Given the description of an element on the screen output the (x, y) to click on. 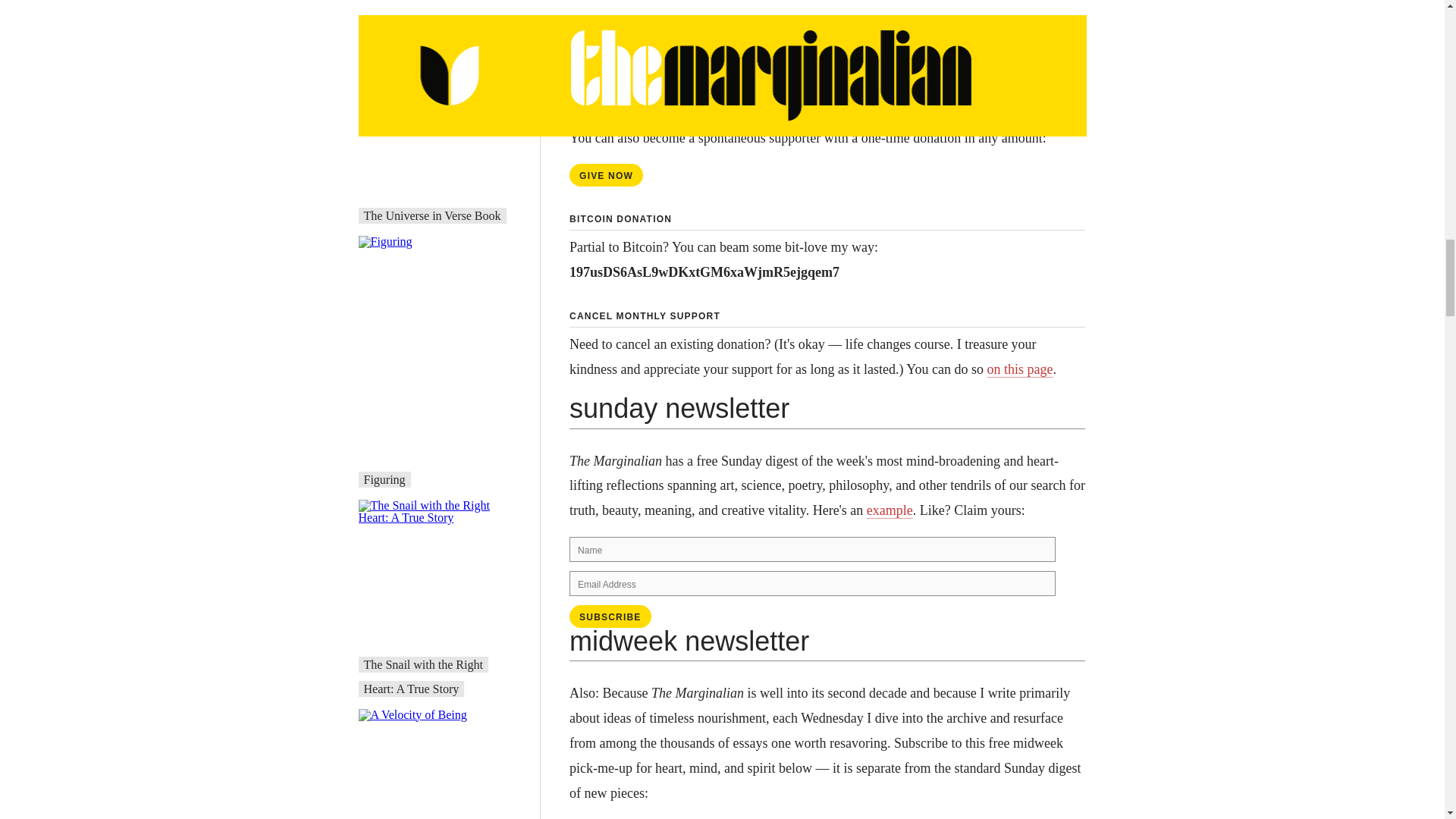
Figuring (385, 479)
Subscribe (609, 616)
The Universe in Verse Book (432, 215)
The Snail with the Right Heart: A True Story (423, 676)
